Given the description of an element on the screen output the (x, y) to click on. 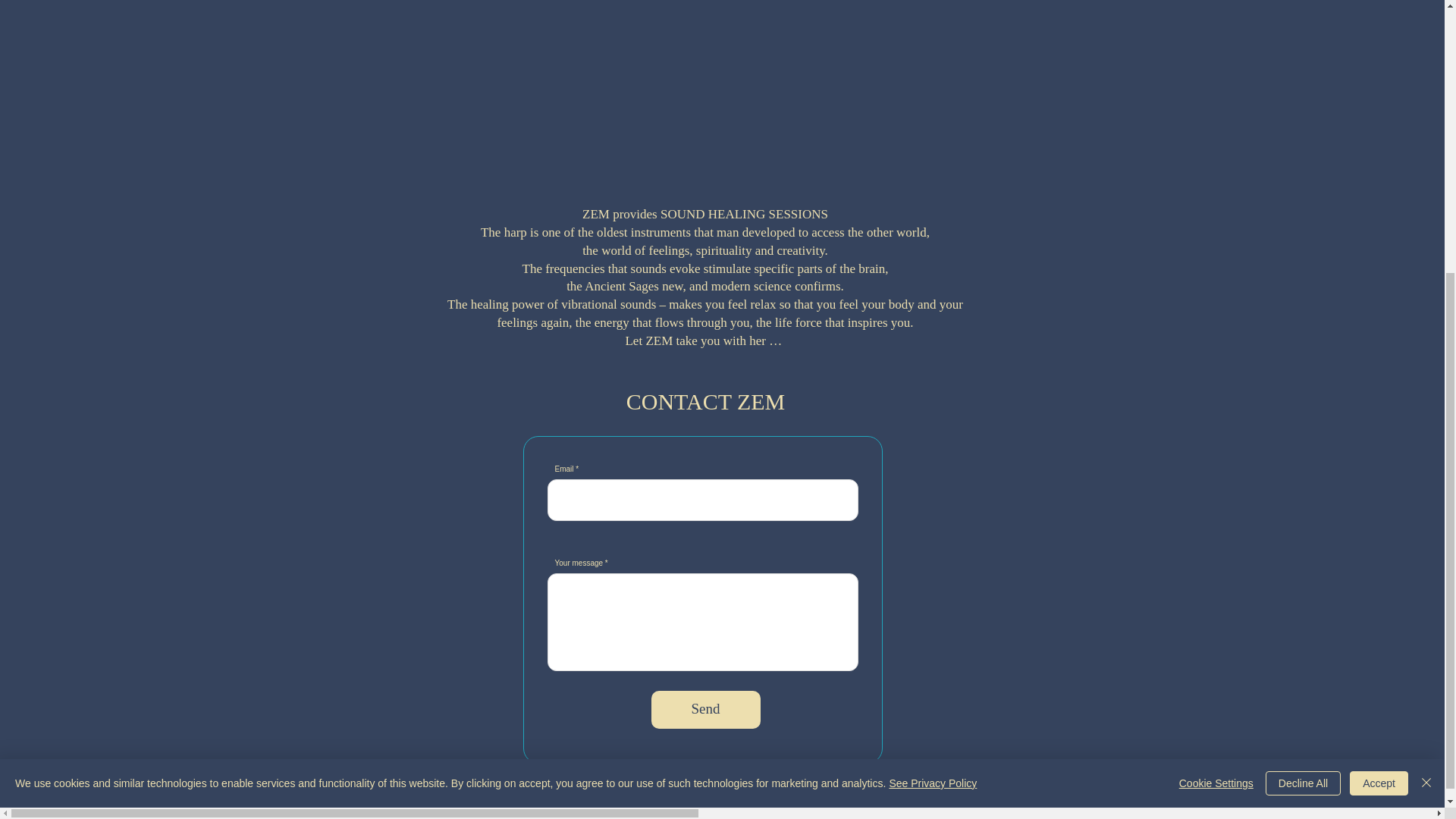
Terms of use (798, 769)
Accept (1378, 372)
Privacy policy (612, 768)
Send (705, 709)
Decline All (1302, 372)
See Privacy Policy (932, 372)
